Given the description of an element on the screen output the (x, y) to click on. 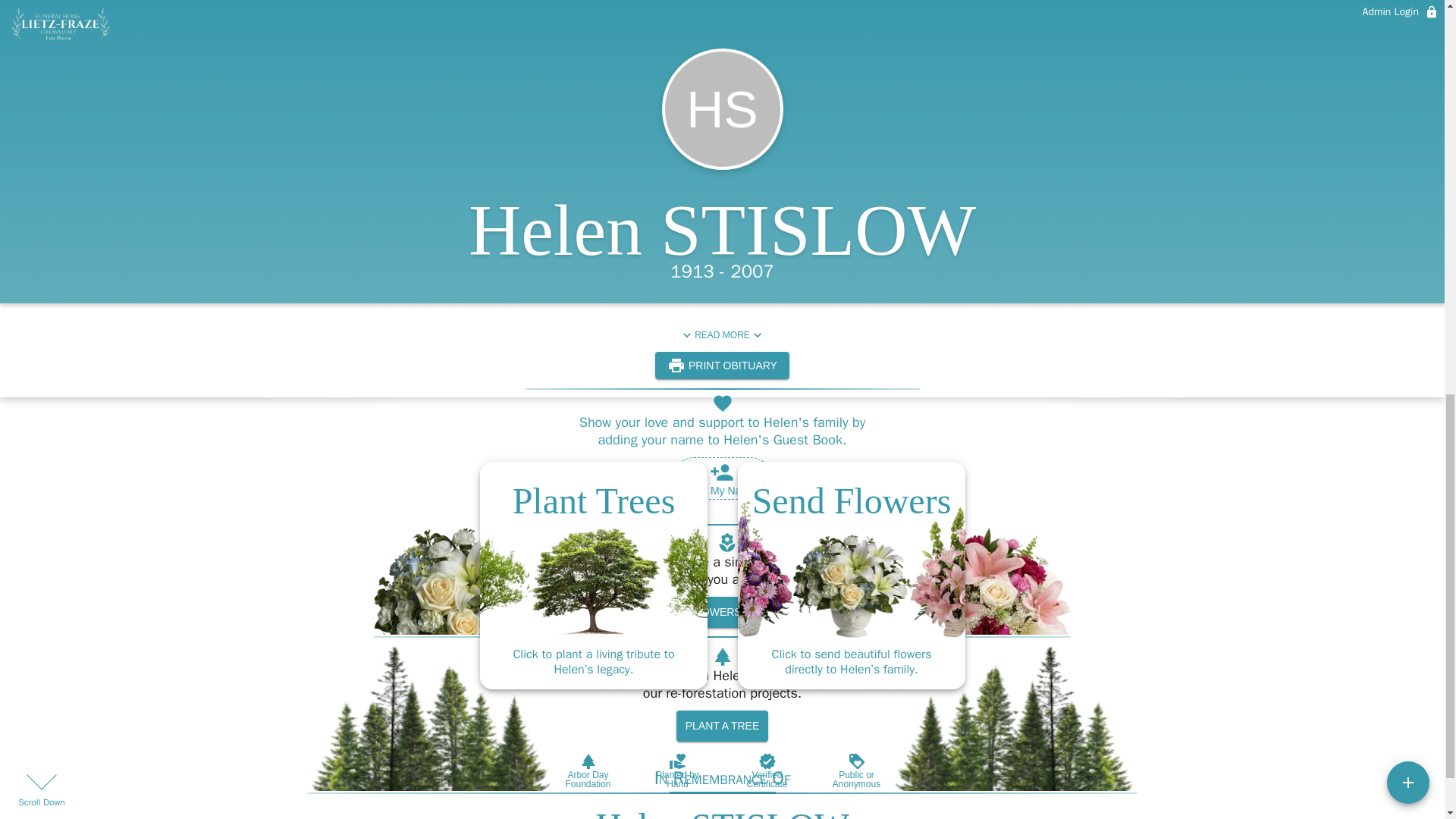
READ MORE (721, 334)
PLANT A TREE (722, 726)
Add My Name (721, 478)
Arbor Day Foundation (587, 770)
Public or Anonymous (855, 770)
 PRINT OBITUARY (722, 365)
Planted by Hand (676, 770)
SEND FLOWERS TO FAMILY (727, 612)
Verified Certificate (766, 770)
Upload Photos of Helen (959, 12)
